Given the description of an element on the screen output the (x, y) to click on. 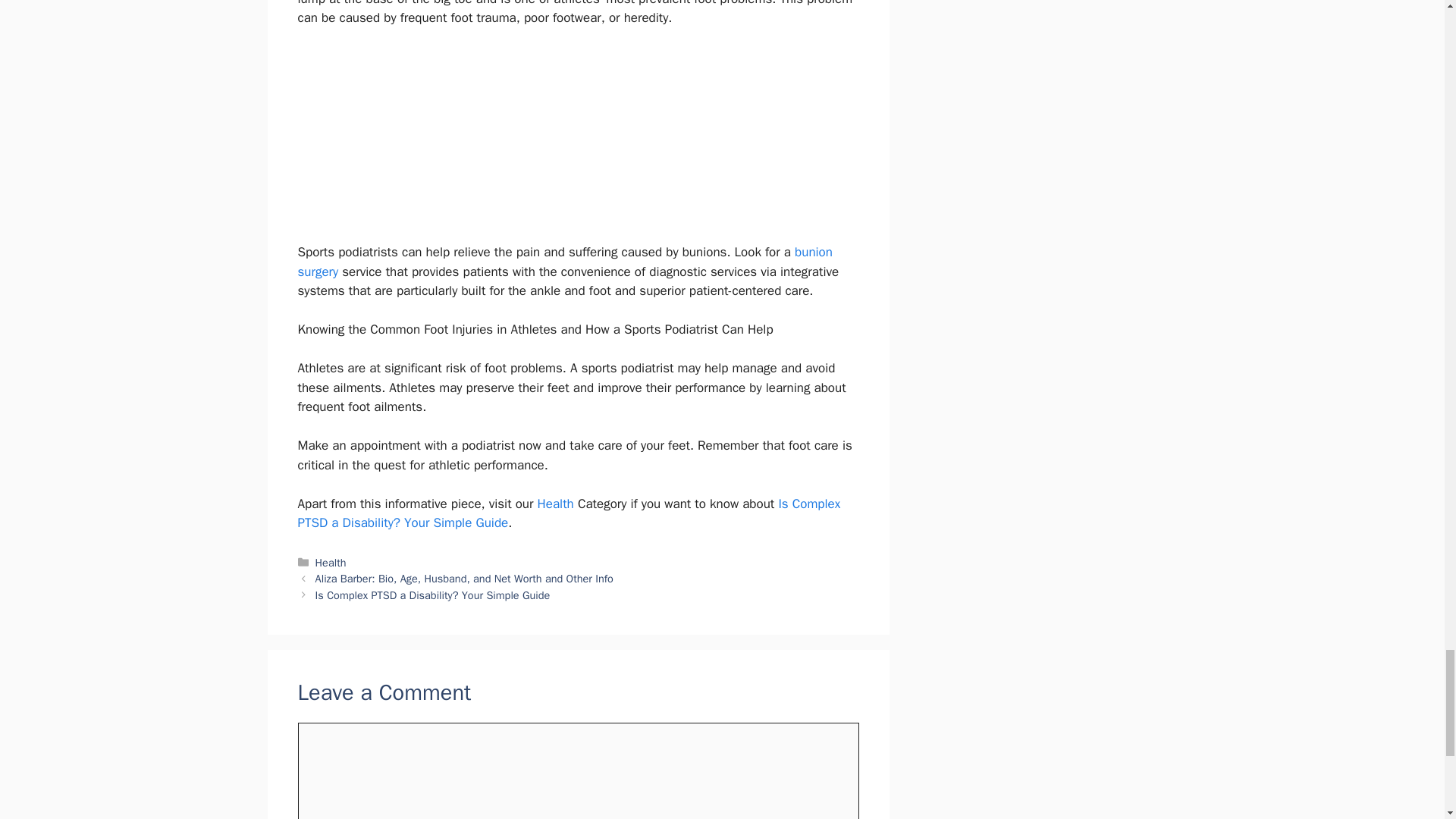
Is Complex PTSD a Disability? Your Simple Guide (432, 594)
Is C (788, 503)
Health (330, 561)
bunion surgery (564, 262)
omplex PTSD a Disability? Your Simple Guide (568, 513)
Health (555, 503)
